Given the description of an element on the screen output the (x, y) to click on. 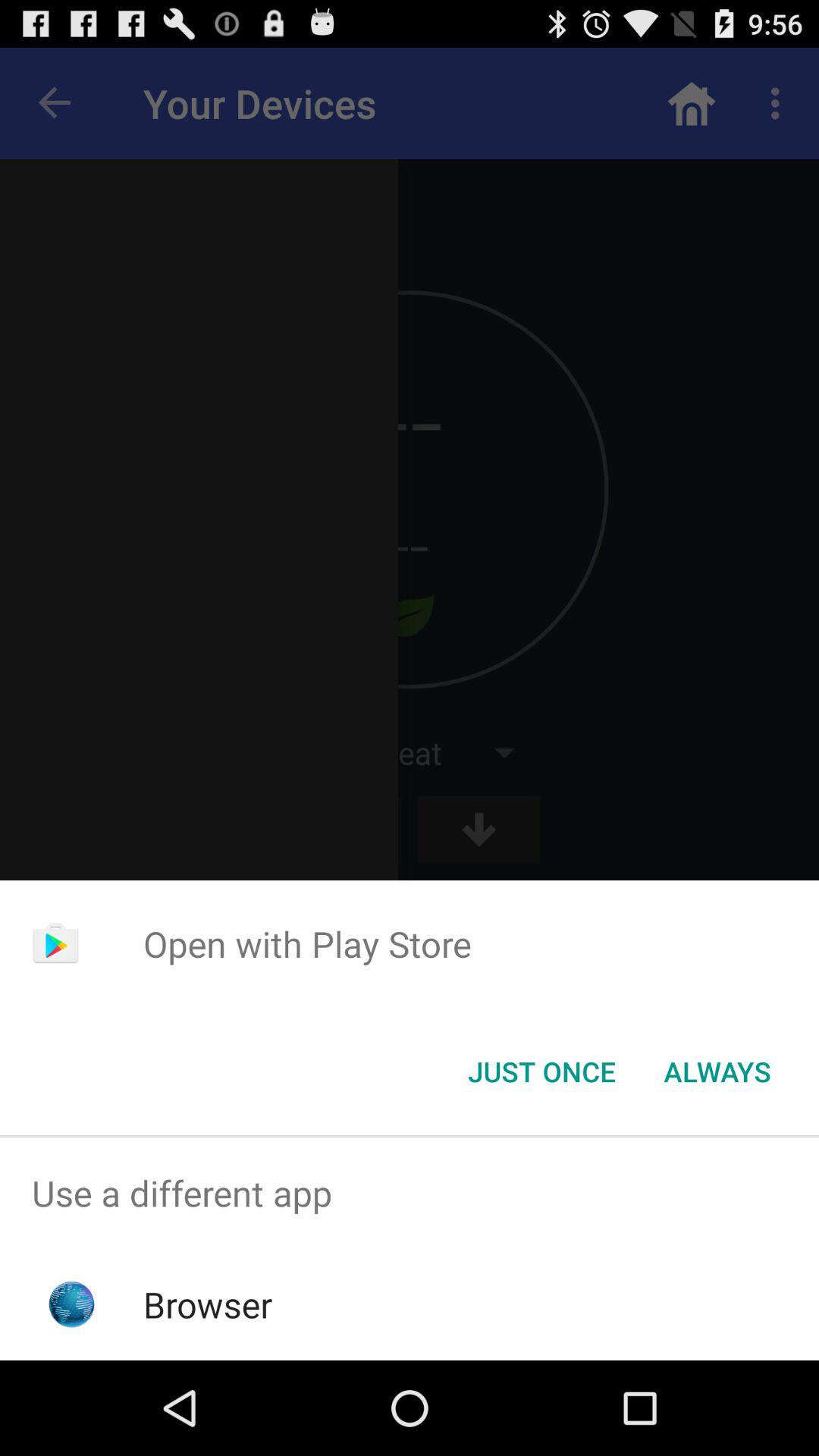
open the item next to the just once (717, 1071)
